Given the description of an element on the screen output the (x, y) to click on. 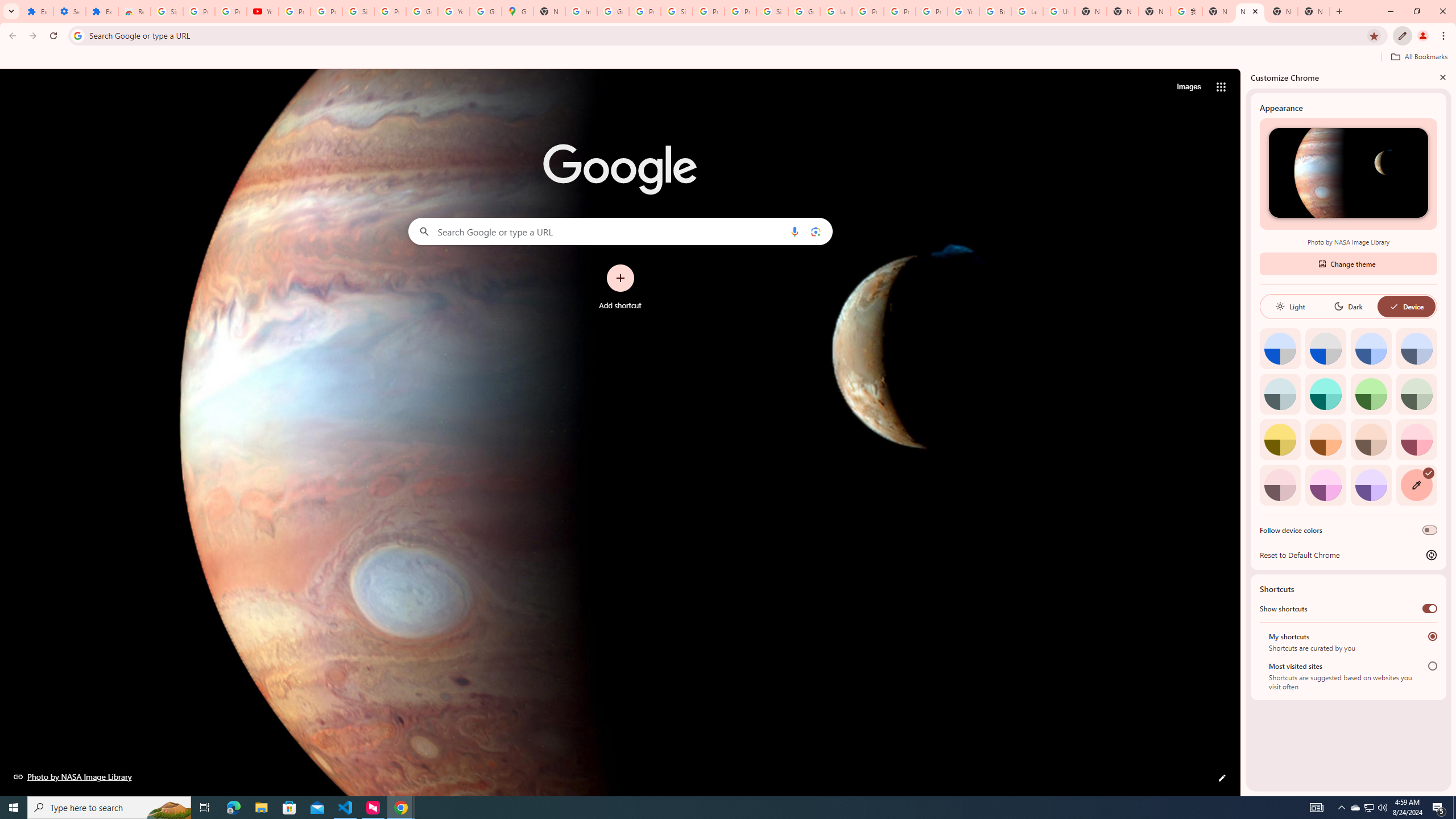
Grey default color (1325, 348)
Google apps (1220, 86)
Apricot (1371, 439)
Reset to Default Chrome (1347, 554)
Dark (1348, 305)
Side Panel Resize Handle (1242, 431)
Privacy Help Center - Policies Help (868, 11)
Photo by NASA Image Library (1348, 172)
Citron (1279, 439)
YouTube (262, 11)
Follow device colors (1429, 529)
